Given the description of an element on the screen output the (x, y) to click on. 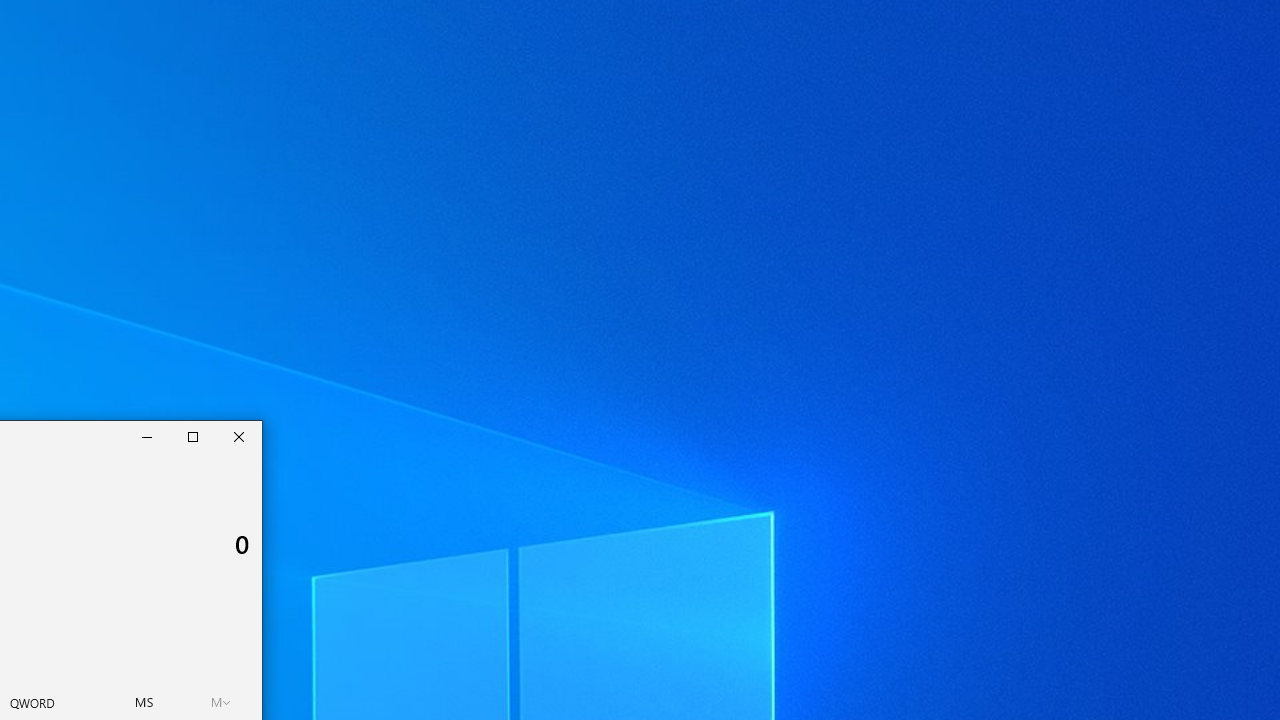
Memory store (144, 702)
Close Calculator (239, 436)
Maximize Calculator (193, 436)
Minimize Calculator (147, 436)
Open memory flyout (221, 702)
